Given the description of an element on the screen output the (x, y) to click on. 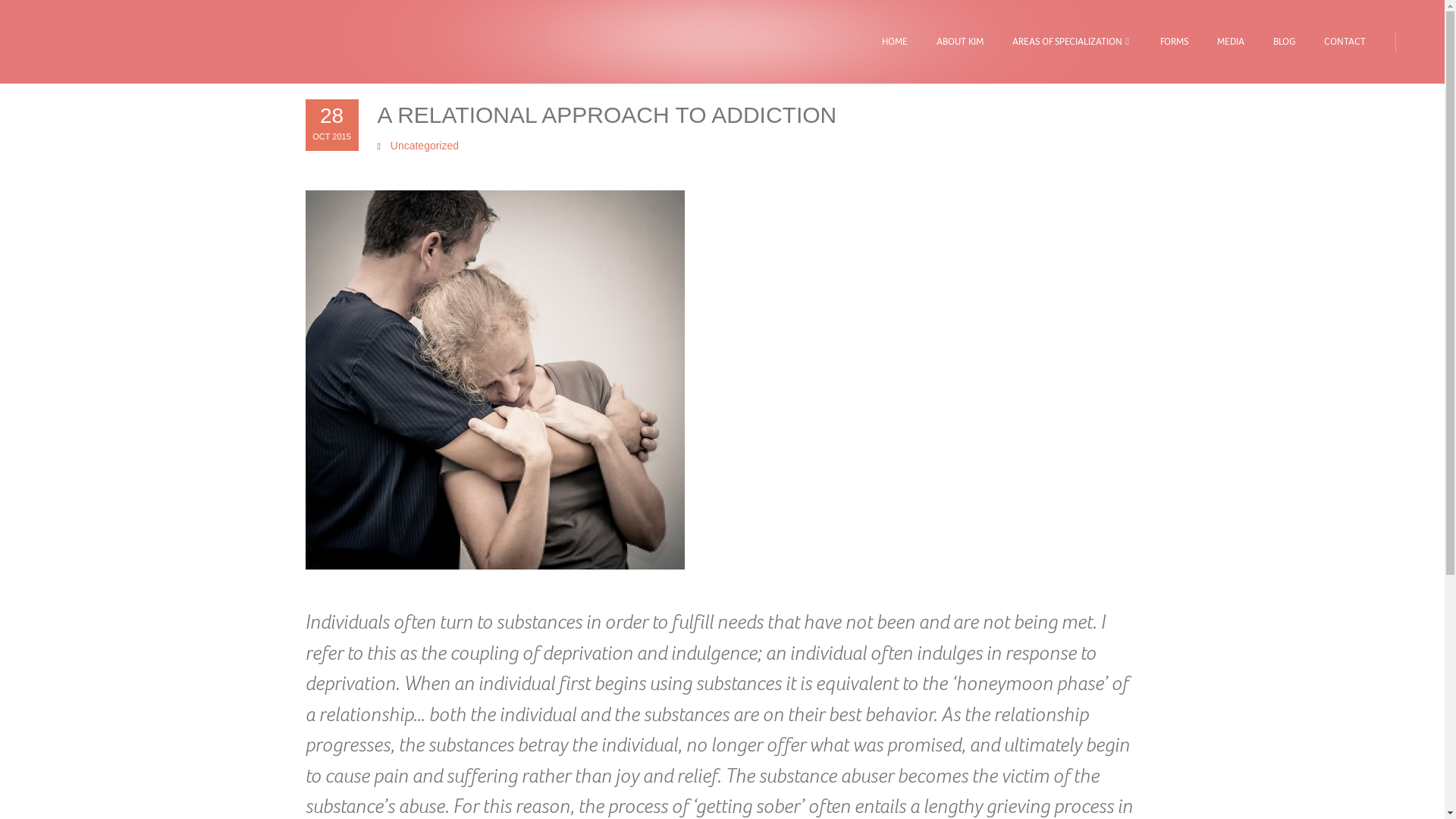
ABOUT KIM (959, 41)
Uncategorized (424, 145)
AREAS OF SPECIALIZATION (1071, 41)
